Given the description of an element on the screen output the (x, y) to click on. 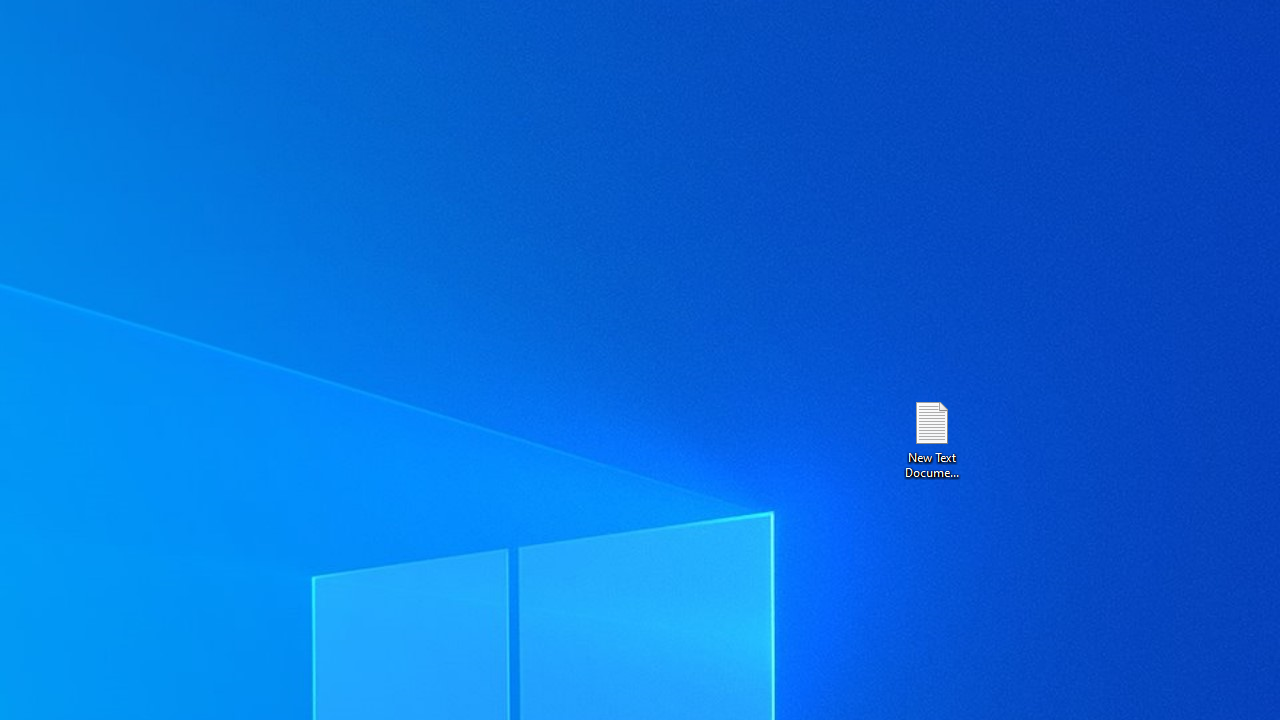
New Text Document (2) (931, 438)
